Given the description of an element on the screen output the (x, y) to click on. 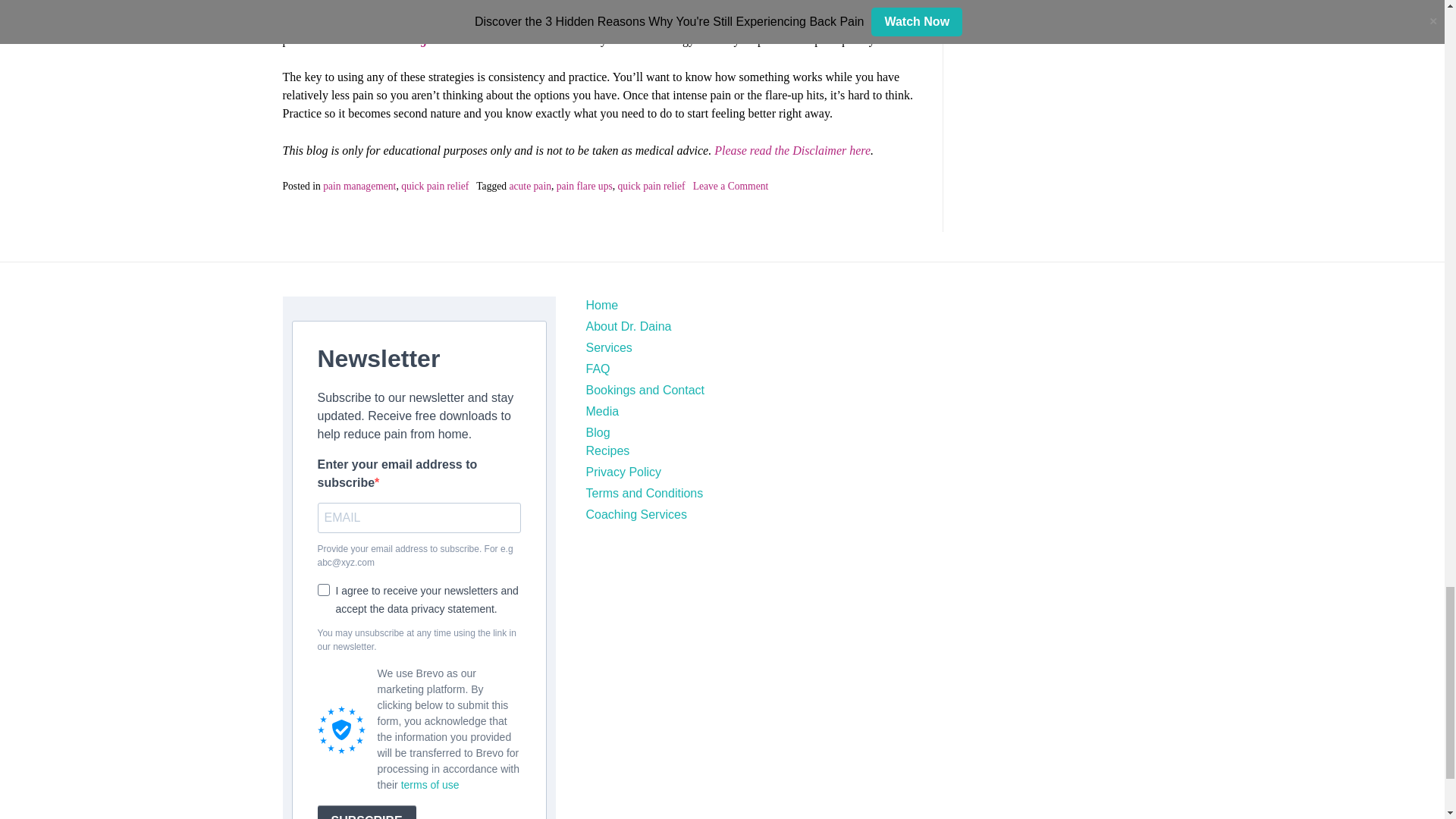
acute pain (529, 185)
Please read the Disclaimer here (792, 150)
quick reference guide (403, 21)
pain flare ups (584, 185)
quick pain relief (434, 185)
download it right here (407, 39)
quick pain relief (651, 185)
pain management (359, 185)
